Given the description of an element on the screen output the (x, y) to click on. 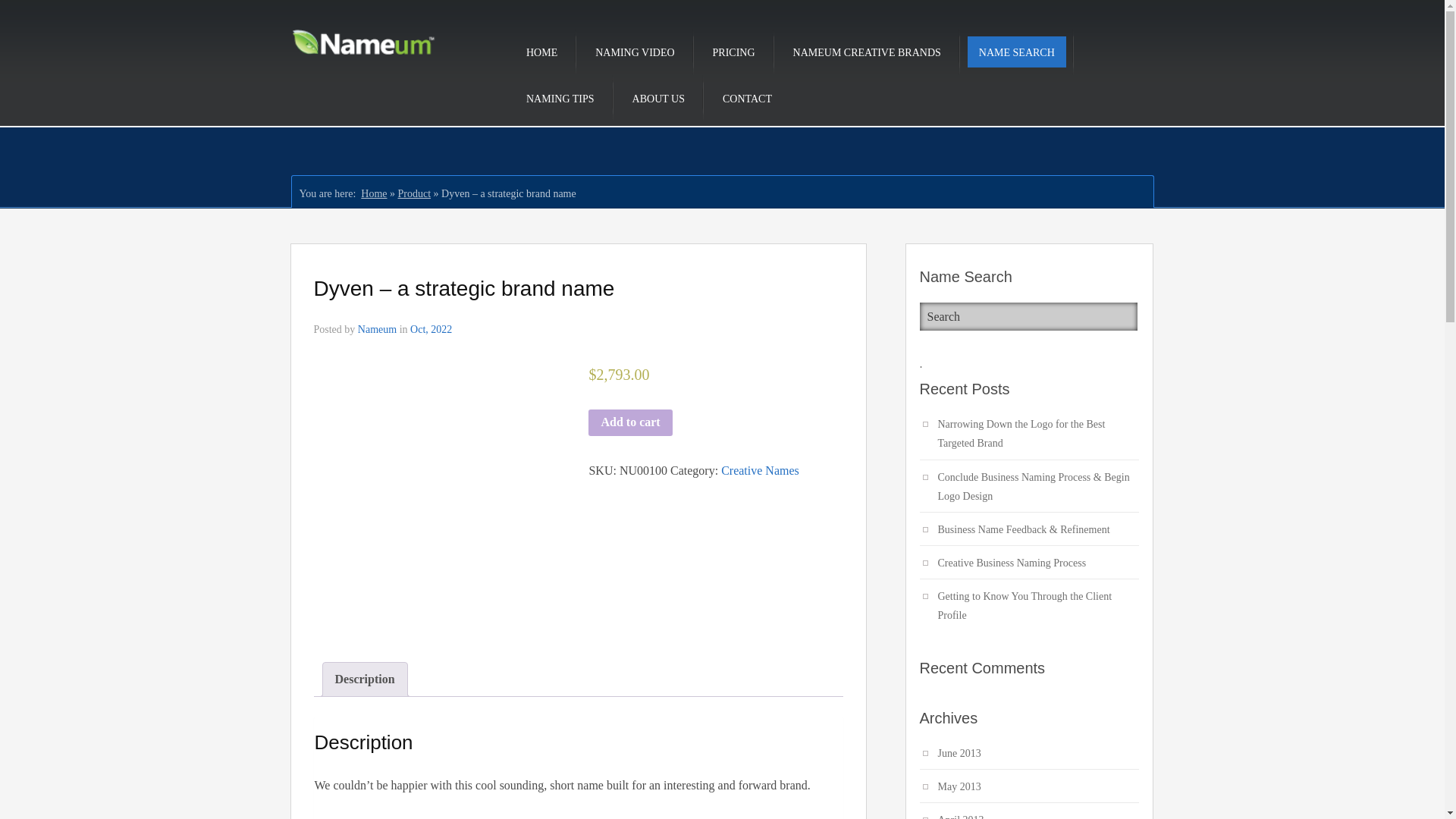
Oct, 2022 (430, 328)
NAMING TIPS (560, 97)
NAME SEARCH (1016, 51)
Add to cart (629, 422)
Creative Names (759, 470)
Narrowing Down the Logo for the Best Targeted Brand (1028, 434)
April 2013 (951, 812)
June 2013 (948, 754)
NAMEUM CREATIVE BRANDS (866, 51)
HOME (542, 51)
